Given the description of an element on the screen output the (x, y) to click on. 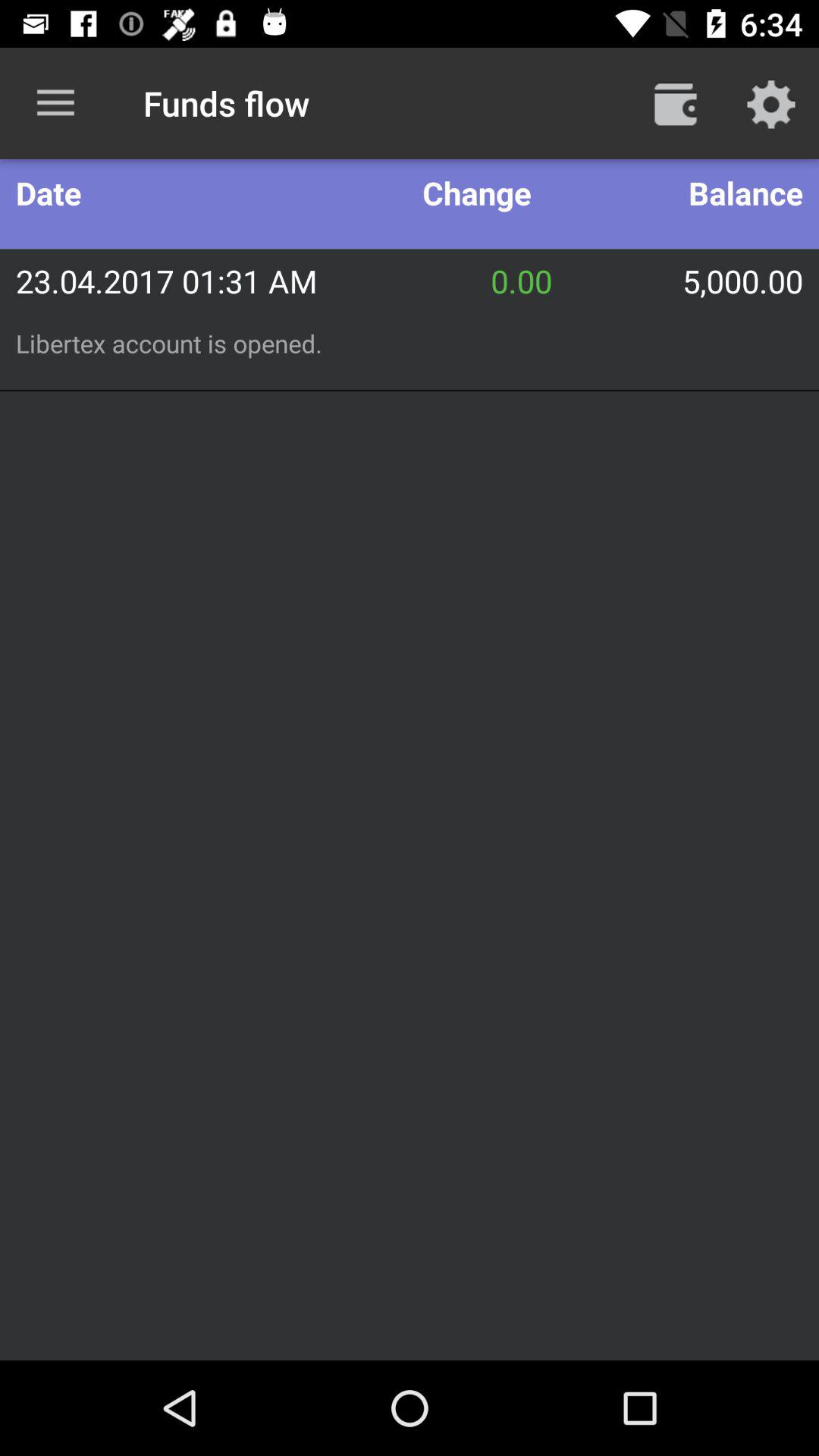
open the icon above balance icon (771, 103)
